Given the description of an element on the screen output the (x, y) to click on. 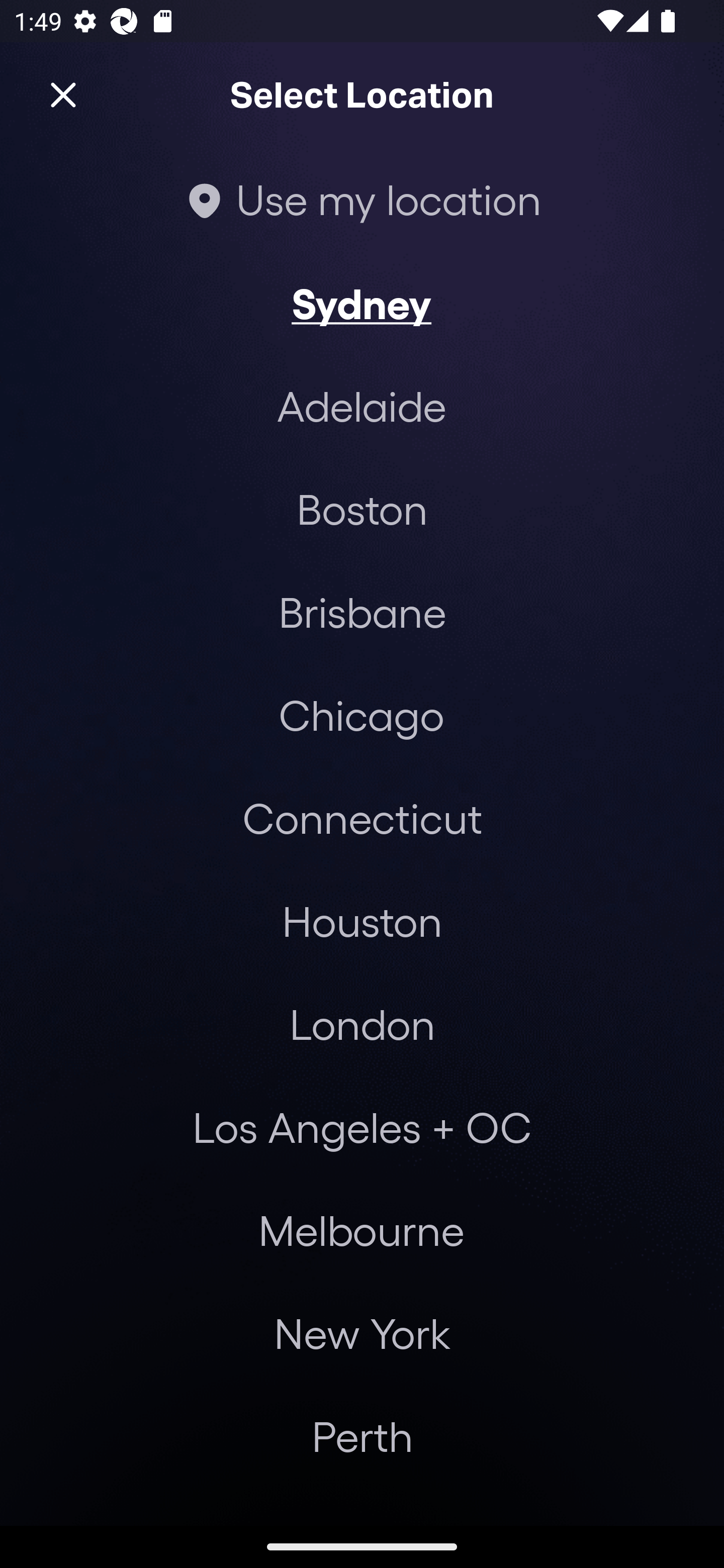
Close (62, 95)
   Use my location (362, 198)
Sydney (361, 302)
Adelaide (361, 405)
Boston (361, 508)
Brisbane (361, 611)
Chicago (361, 714)
Connecticut (361, 817)
Houston (361, 920)
London (361, 1023)
Los Angeles + OC (361, 1127)
Melbourne (361, 1230)
New York (361, 1332)
Perth (361, 1436)
